Given the description of an element on the screen output the (x, y) to click on. 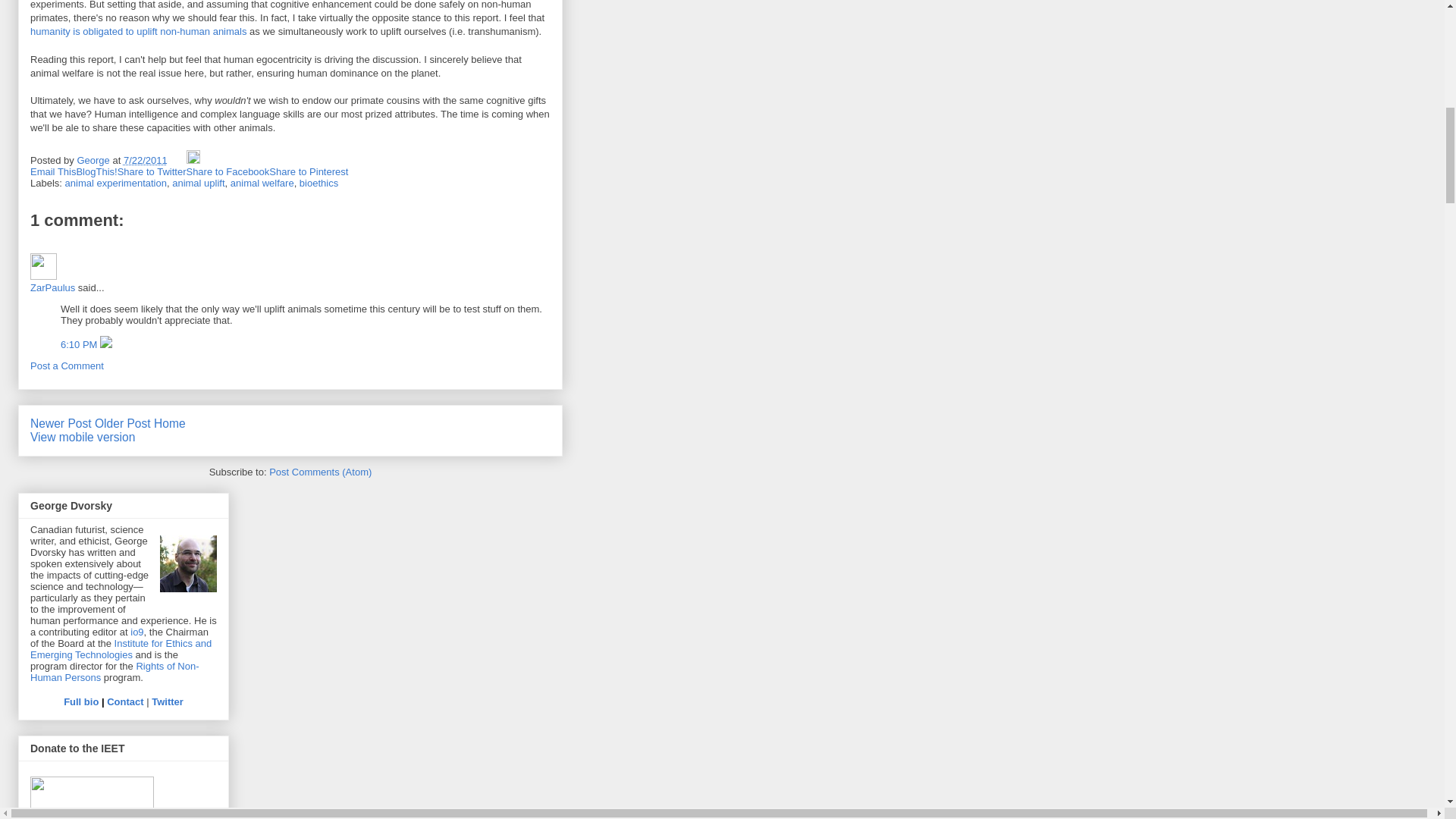
Twitter (167, 701)
Share to Pinterest (308, 171)
Share to Facebook (227, 171)
BlogThis! (95, 171)
View mobile version (82, 436)
Full bio (81, 701)
Rights of Non-Human Persons (114, 671)
Share to Twitter (151, 171)
ZarPaulus (43, 266)
Share to Twitter (151, 171)
Delete Comment (106, 344)
Share to Facebook (227, 171)
Older Post (122, 422)
Home (170, 422)
Email Post (178, 160)
